Given the description of an element on the screen output the (x, y) to click on. 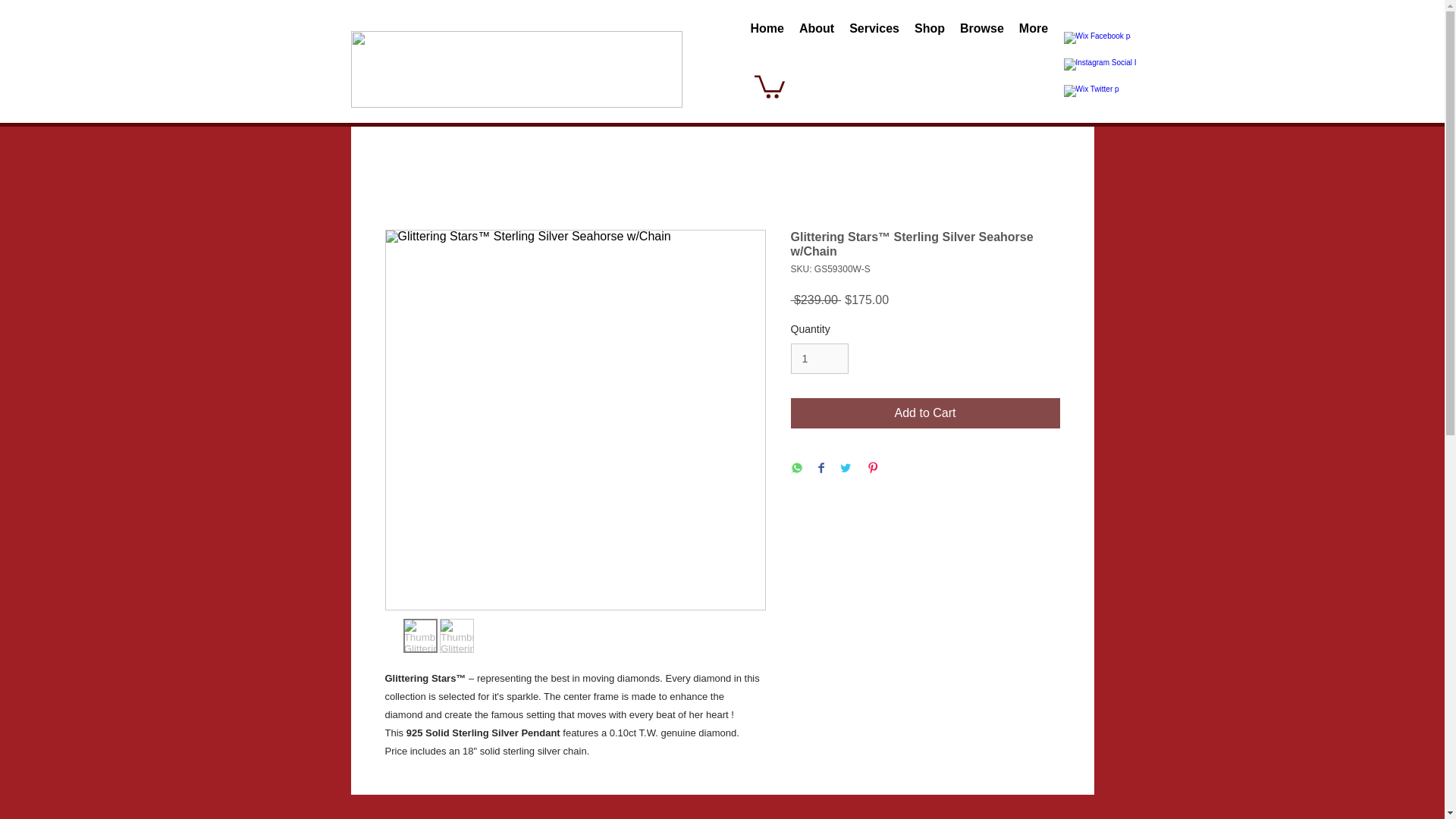
Services (874, 39)
About (816, 39)
1 (818, 358)
Shop (929, 39)
Browse (981, 39)
Add to Cart (924, 413)
Home (767, 39)
R Logo 48.jpg (515, 69)
